Given the description of an element on the screen output the (x, y) to click on. 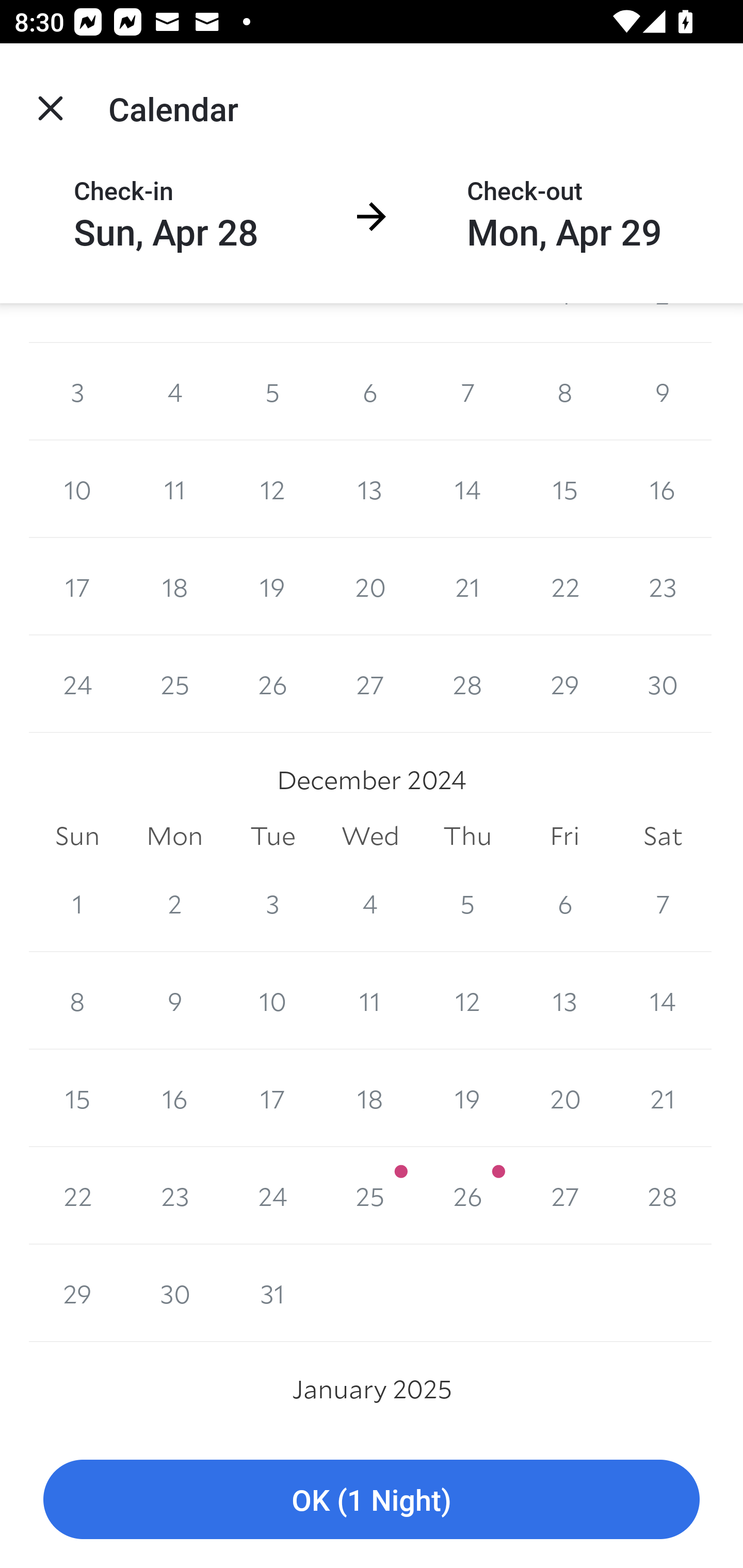
3 3 November 2024 (77, 391)
4 4 November 2024 (174, 391)
5 5 November 2024 (272, 391)
6 6 November 2024 (370, 391)
7 7 November 2024 (467, 391)
8 8 November 2024 (564, 391)
9 9 November 2024 (662, 391)
10 10 November 2024 (77, 488)
11 11 November 2024 (174, 488)
12 12 November 2024 (272, 488)
13 13 November 2024 (370, 488)
14 14 November 2024 (467, 488)
15 15 November 2024 (564, 488)
16 16 November 2024 (662, 488)
17 17 November 2024 (77, 586)
18 18 November 2024 (174, 586)
19 19 November 2024 (272, 586)
20 20 November 2024 (370, 586)
21 21 November 2024 (467, 586)
22 22 November 2024 (564, 586)
23 23 November 2024 (662, 586)
24 24 November 2024 (77, 683)
25 25 November 2024 (174, 683)
26 26 November 2024 (272, 683)
27 27 November 2024 (370, 683)
28 28 November 2024 (467, 683)
29 29 November 2024 (564, 683)
30 30 November 2024 (662, 683)
Sun (77, 835)
Mon (174, 835)
Tue (272, 835)
Wed (370, 835)
Thu (467, 835)
Fri (564, 835)
Sat (662, 835)
1 1 December 2024 (77, 902)
2 2 December 2024 (174, 902)
3 3 December 2024 (272, 902)
4 4 December 2024 (370, 902)
5 5 December 2024 (467, 902)
6 6 December 2024 (564, 902)
7 7 December 2024 (662, 902)
8 8 December 2024 (77, 999)
9 9 December 2024 (174, 999)
10 10 December 2024 (272, 999)
11 11 December 2024 (370, 999)
12 12 December 2024 (467, 999)
13 13 December 2024 (564, 999)
14 14 December 2024 (662, 999)
15 15 December 2024 (77, 1097)
16 16 December 2024 (174, 1097)
17 17 December 2024 (272, 1097)
18 18 December 2024 (370, 1097)
19 19 December 2024 (467, 1097)
20 20 December 2024 (564, 1097)
21 21 December 2024 (662, 1097)
22 22 December 2024 (77, 1195)
23 23 December 2024 (174, 1195)
24 24 December 2024 (272, 1195)
25 25 December 2024 (370, 1195)
26 26 December 2024 (467, 1195)
27 27 December 2024 (564, 1195)
28 28 December 2024 (662, 1195)
29 29 December 2024 (77, 1293)
30 30 December 2024 (174, 1293)
31 31 December 2024 (272, 1293)
OK (1 Night) (371, 1499)
